Given the description of an element on the screen output the (x, y) to click on. 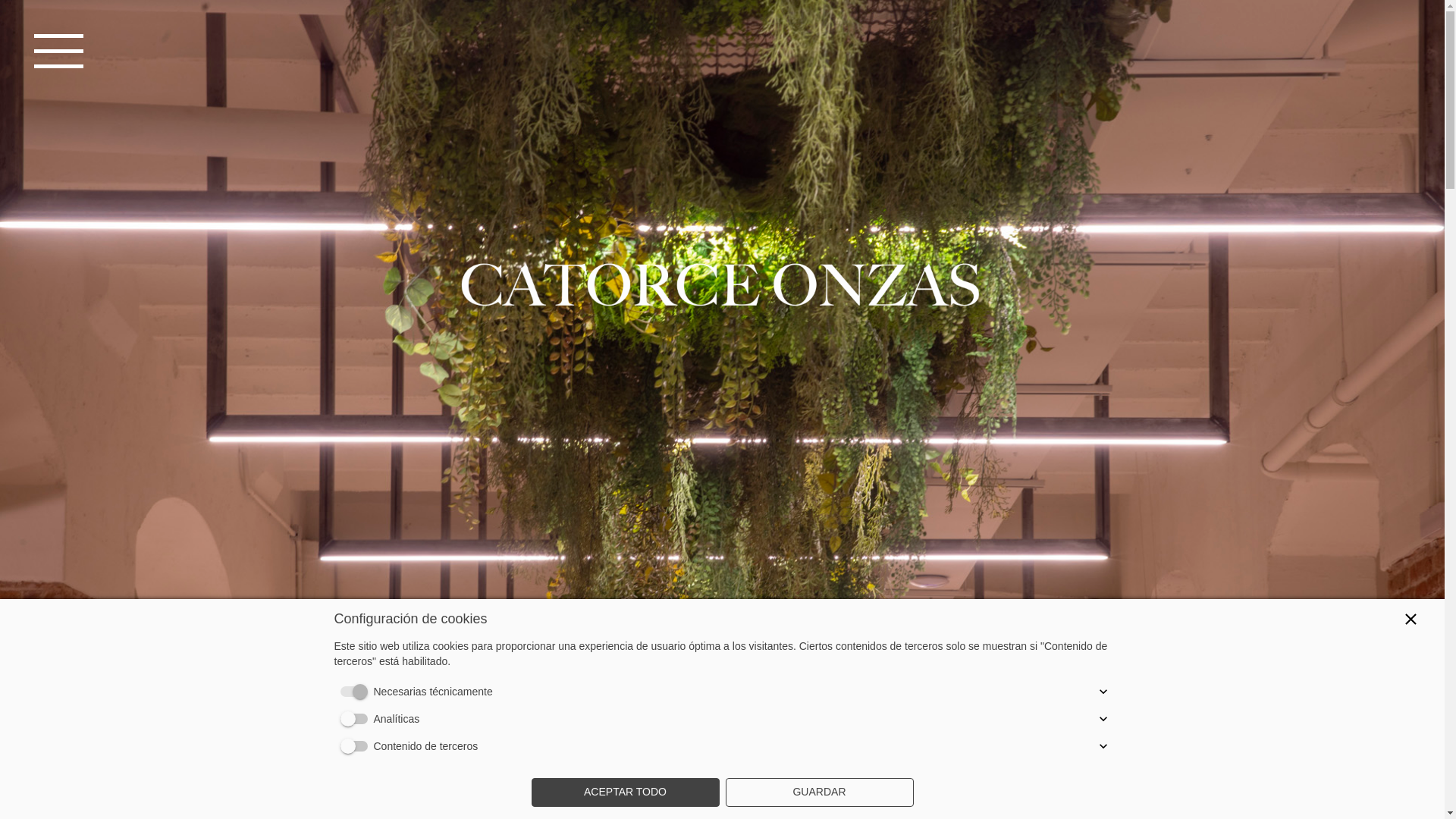
ACEPTAR TODO Element type: text (624, 792)
GUARDAR Element type: text (818, 792)
